Given the description of an element on the screen output the (x, y) to click on. 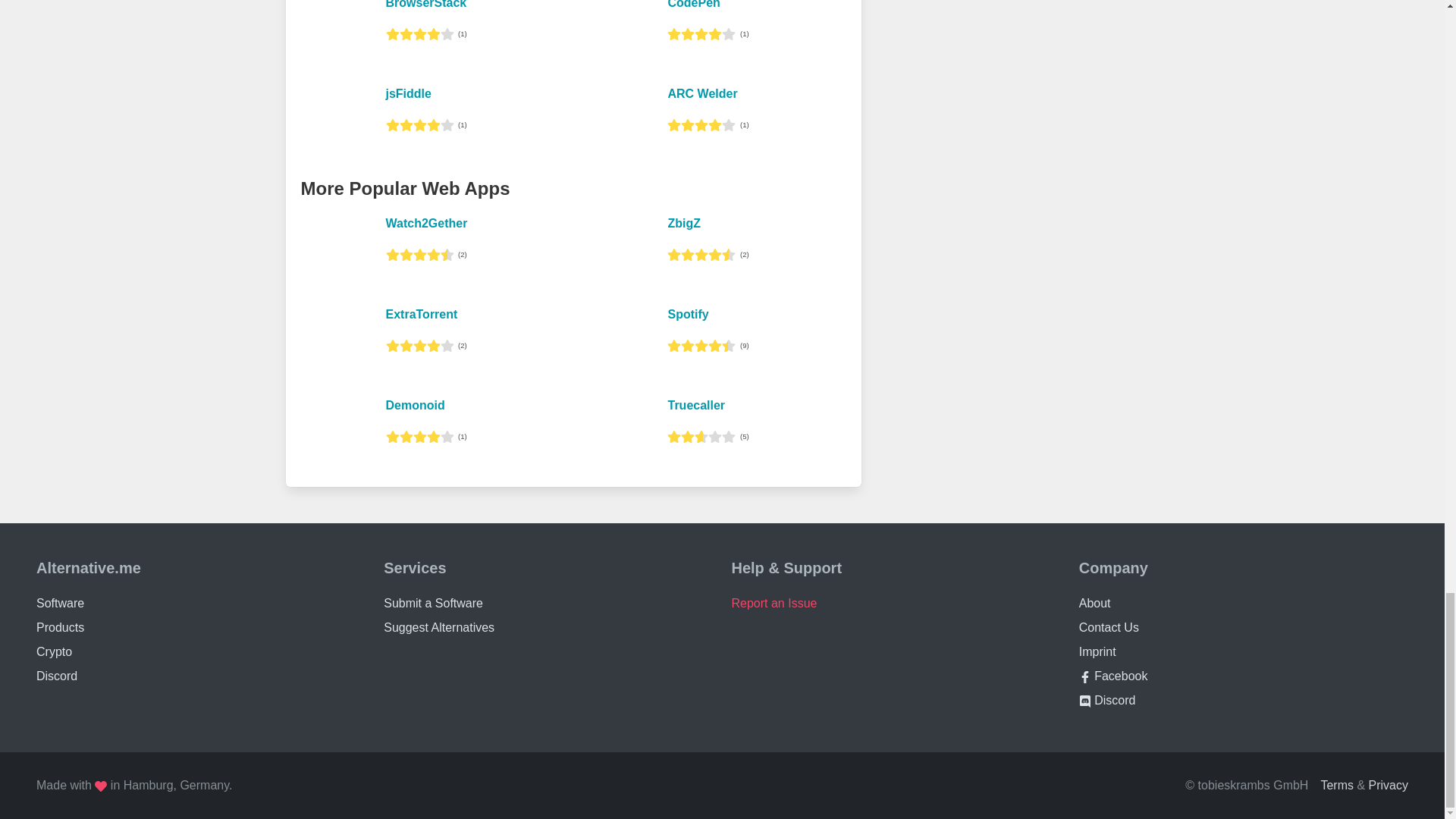
ExtraTorrent (421, 314)
Truecaller (695, 404)
Demonoid (414, 404)
ARC Welder (701, 92)
Spotify (686, 314)
Watch2Gether (426, 223)
jsFiddle (407, 92)
BrowserStack (425, 4)
ZbigZ (683, 223)
CodePen (692, 4)
